Given the description of an element on the screen output the (x, y) to click on. 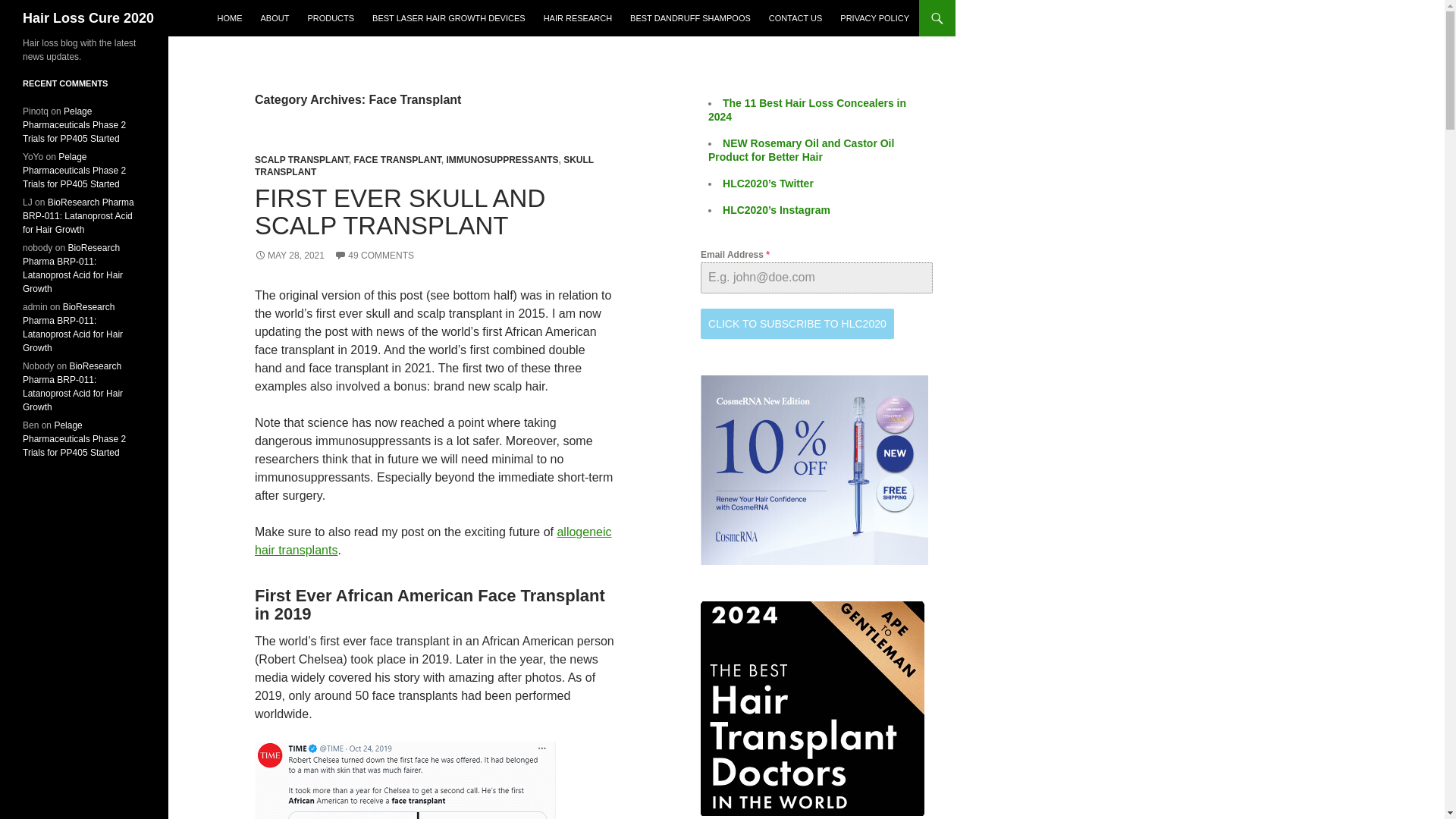
FIRST EVER SKULL AND SCALP TRANSPLANT (399, 211)
MAY 28, 2021 (289, 255)
HOME (229, 18)
BEST LASER HAIR GROWTH DEVICES (448, 18)
49 COMMENTS (373, 255)
SKULL TRANSPLANT (424, 165)
SCALP TRANSPLANT (301, 159)
PRODUCTS (330, 18)
IMMUNOSUPPRESSANTS (501, 159)
FACE TRANSPLANT (397, 159)
HAIR RESEARCH (577, 18)
CONTACT US (795, 18)
BEST DANDRUFF SHAMPOOS (690, 18)
ABOUT (274, 18)
